Given the description of an element on the screen output the (x, y) to click on. 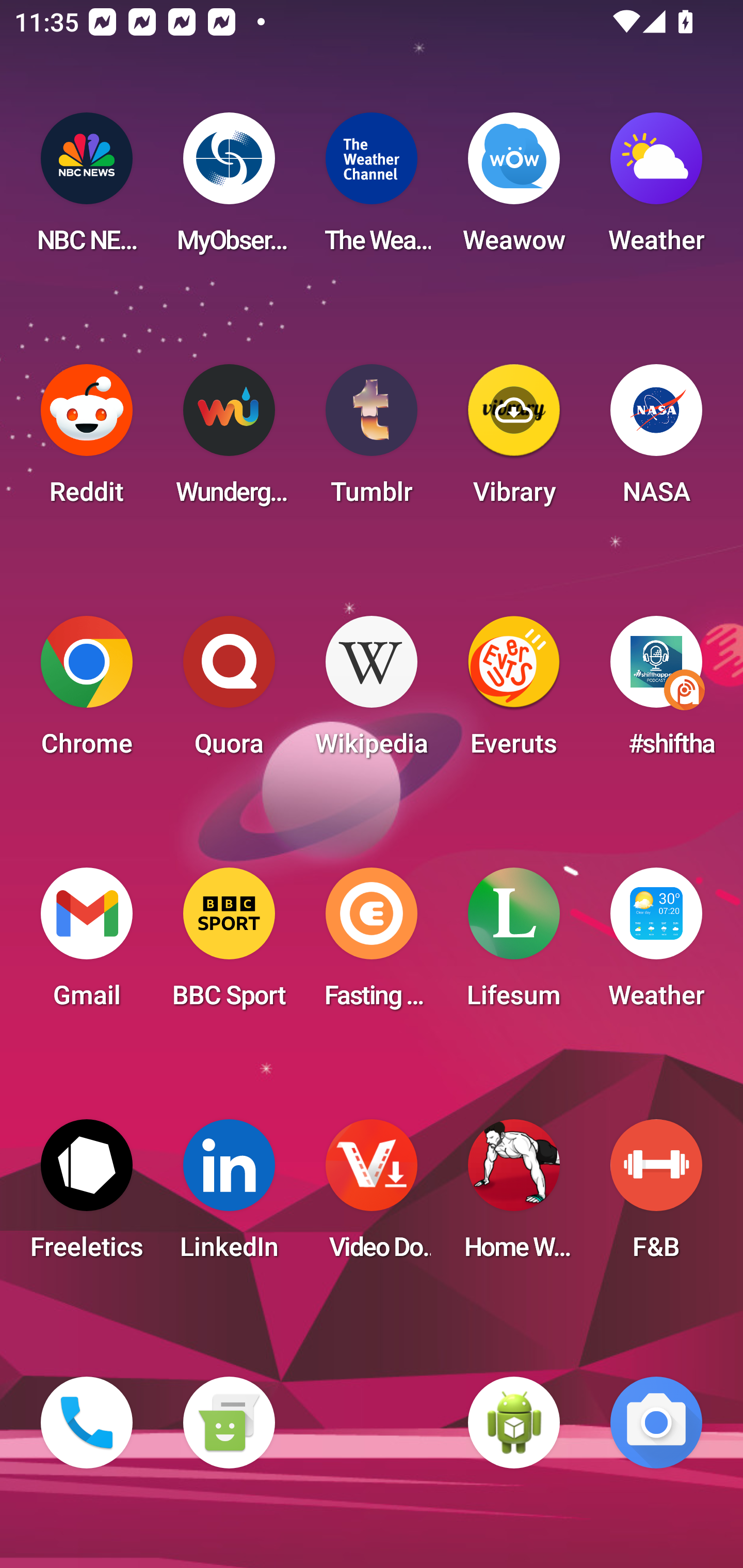
NBC NEWS (86, 188)
MyObservatory (228, 188)
The Weather Channel (371, 188)
Weawow (513, 188)
Weather (656, 188)
Reddit (86, 440)
Wunderground (228, 440)
Tumblr (371, 440)
Vibrary (513, 440)
NASA (656, 440)
Chrome (86, 692)
Quora (228, 692)
Wikipedia (371, 692)
Everuts (513, 692)
#shifthappens in the Digital Workplace Podcast (656, 692)
Gmail (86, 943)
BBC Sport (228, 943)
Fasting Coach (371, 943)
Lifesum (513, 943)
Weather (656, 943)
Freeletics (86, 1195)
LinkedIn (228, 1195)
Video Downloader & Ace Player (371, 1195)
Home Workout (513, 1195)
F&B (656, 1195)
Phone (86, 1422)
Messaging (228, 1422)
WebView Browser Tester (513, 1422)
Camera (656, 1422)
